Given the description of an element on the screen output the (x, y) to click on. 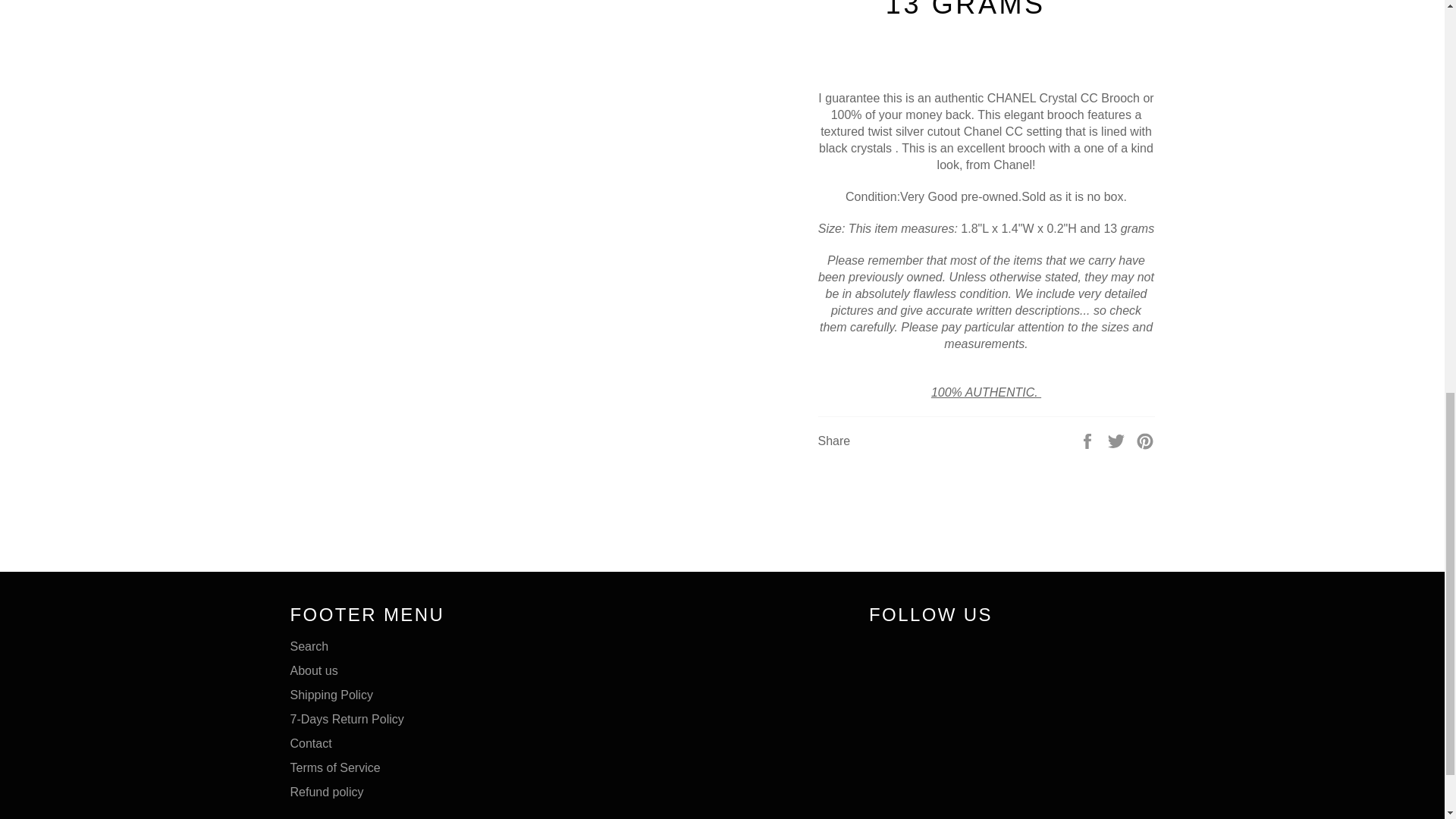
Share on Facebook (1088, 440)
Pin on Pinterest (1144, 440)
Tweet on Twitter (1117, 440)
